Given the description of an element on the screen output the (x, y) to click on. 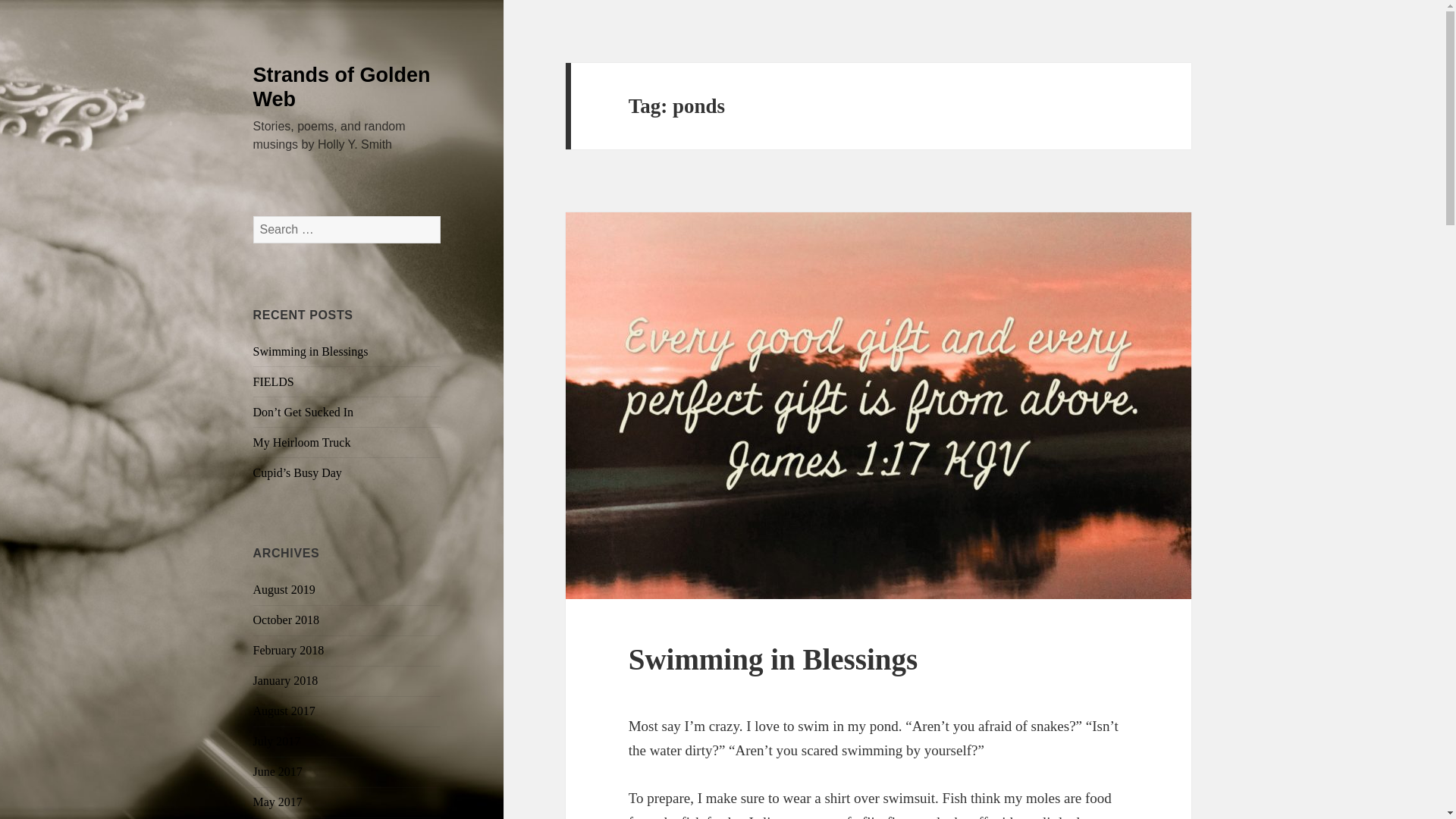
January 2018 (285, 680)
Swimming in Blessings (772, 658)
Strands of Golden Web (341, 86)
Swimming in Blessings (310, 350)
August 2019 (284, 589)
October 2018 (286, 619)
July 2017 (277, 740)
August 2017 (284, 710)
FIELDS (273, 381)
February 2018 (288, 649)
May 2017 (277, 801)
June 2017 (277, 771)
My Heirloom Truck (301, 441)
